Given the description of an element on the screen output the (x, y) to click on. 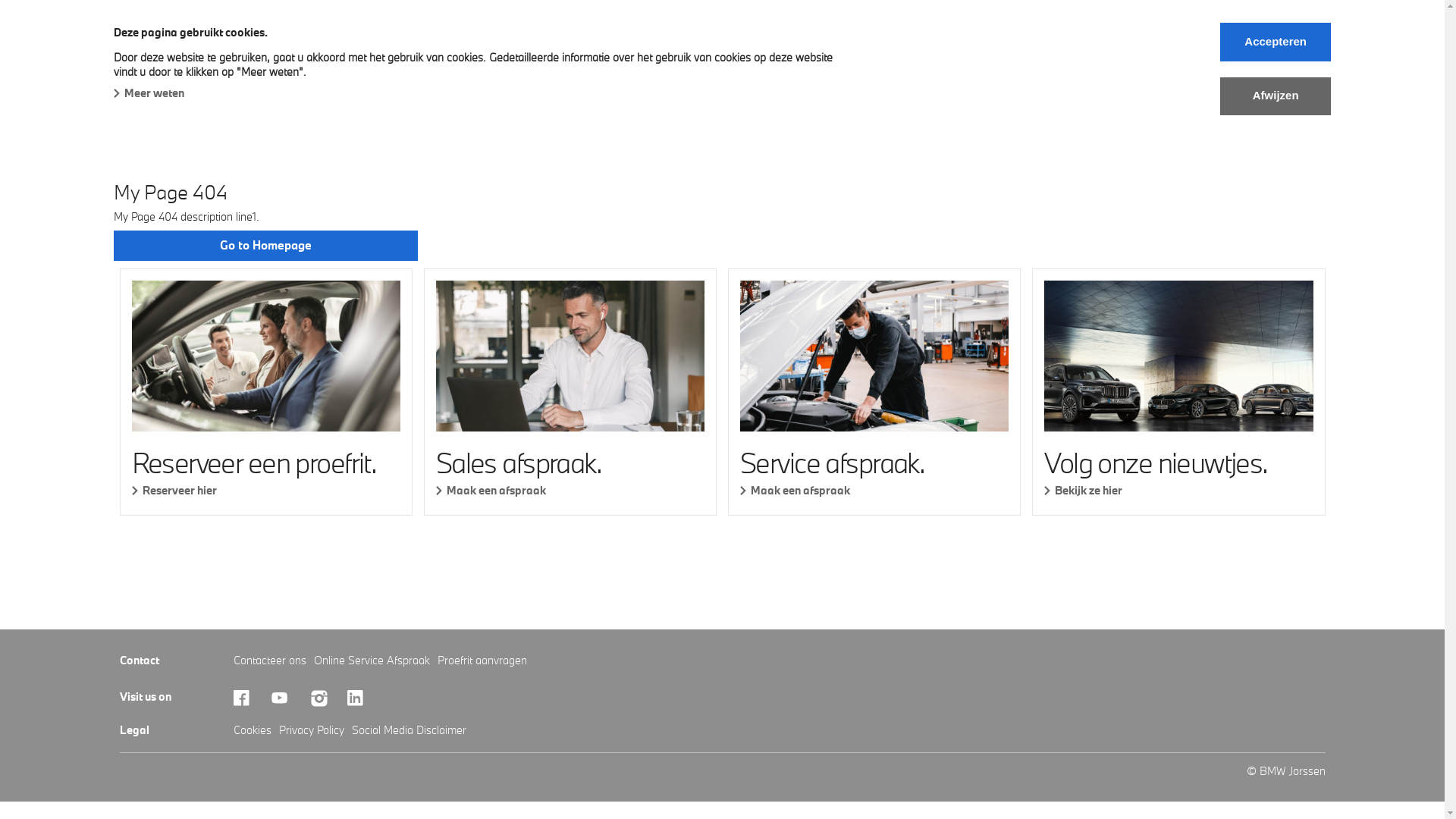
BMW Financial Services Element type: text (788, 63)
Reserveer hier Element type: text (265, 489)
Contact Element type: text (1182, 63)
Cookies Element type: text (252, 729)
Proefrit aanvragen Element type: text (481, 659)
Nieuwe wagens Element type: text (163, 63)
Social Media Disclaimer Element type: text (408, 729)
BMW Jorssen Element type: text (153, 31)
Accepteren Element type: text (1275, 41)
Maak een afspraak Element type: text (570, 489)
White & Blue Element type: text (1040, 63)
Jobs Element type: text (1119, 63)
Bekijk ze hier Element type: text (1178, 489)
Snel leverbare wagens Element type: text (301, 63)
Onderhoud & Carrosserie Element type: text (464, 63)
Privacy Policy Element type: text (311, 729)
Contacteer ons Element type: text (269, 659)
Go to Homepage Element type: text (265, 245)
Skip to main content Element type: text (0, 0)
Lifestyle & Accessoires Element type: text (628, 63)
Maak een afspraak Element type: text (874, 489)
Meer weten Element type: text (148, 92)
Online Service Afspraak Element type: text (371, 659)
Afwijzen Element type: text (1275, 95)
Onze concessies Element type: text (927, 63)
